Given the description of an element on the screen output the (x, y) to click on. 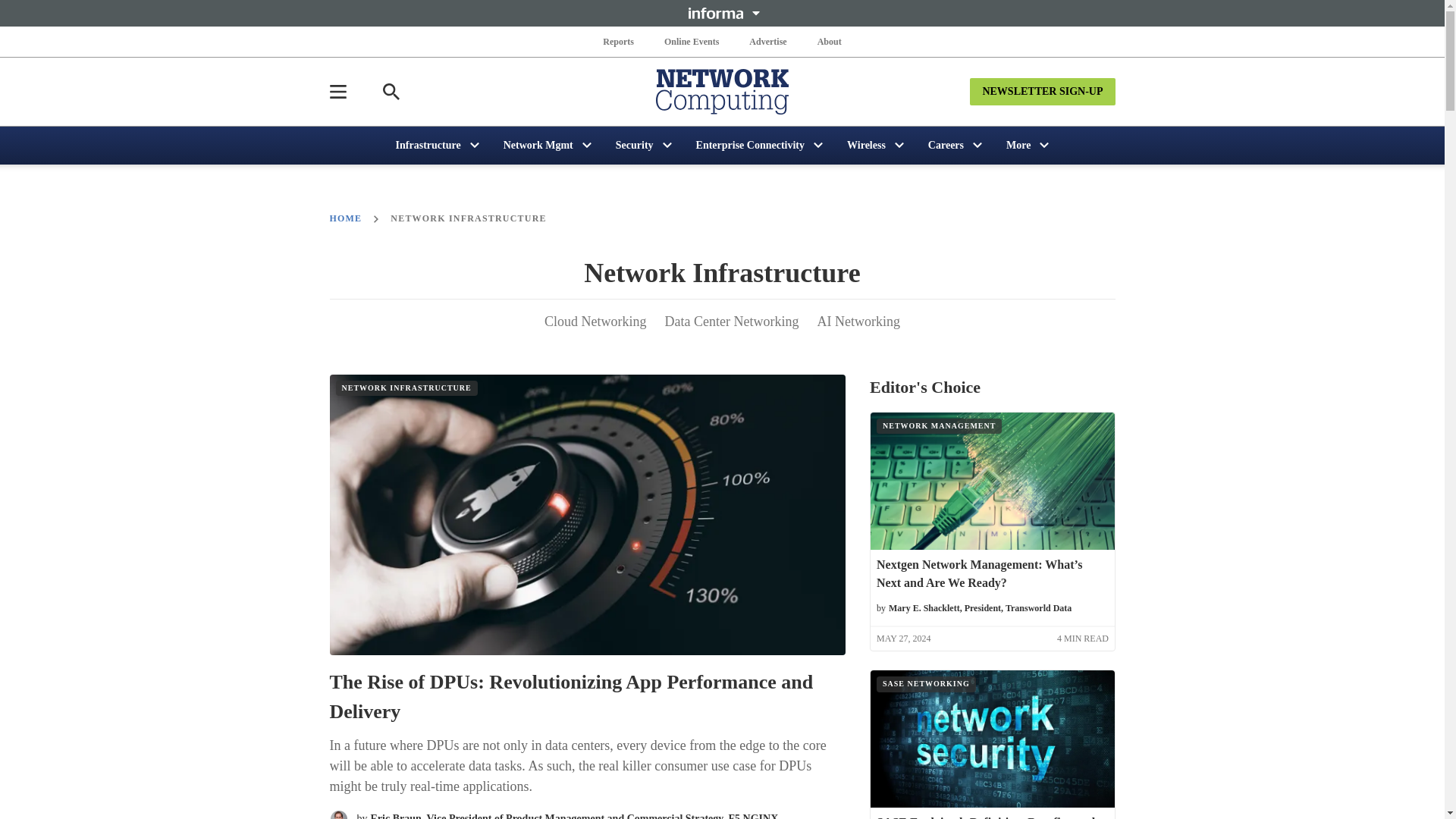
Network Computing Logo (722, 91)
NEWSLETTER SIGN-UP (1042, 90)
Reports (618, 41)
Online Events (691, 41)
Advertise (767, 41)
About (828, 41)
